Given the description of an element on the screen output the (x, y) to click on. 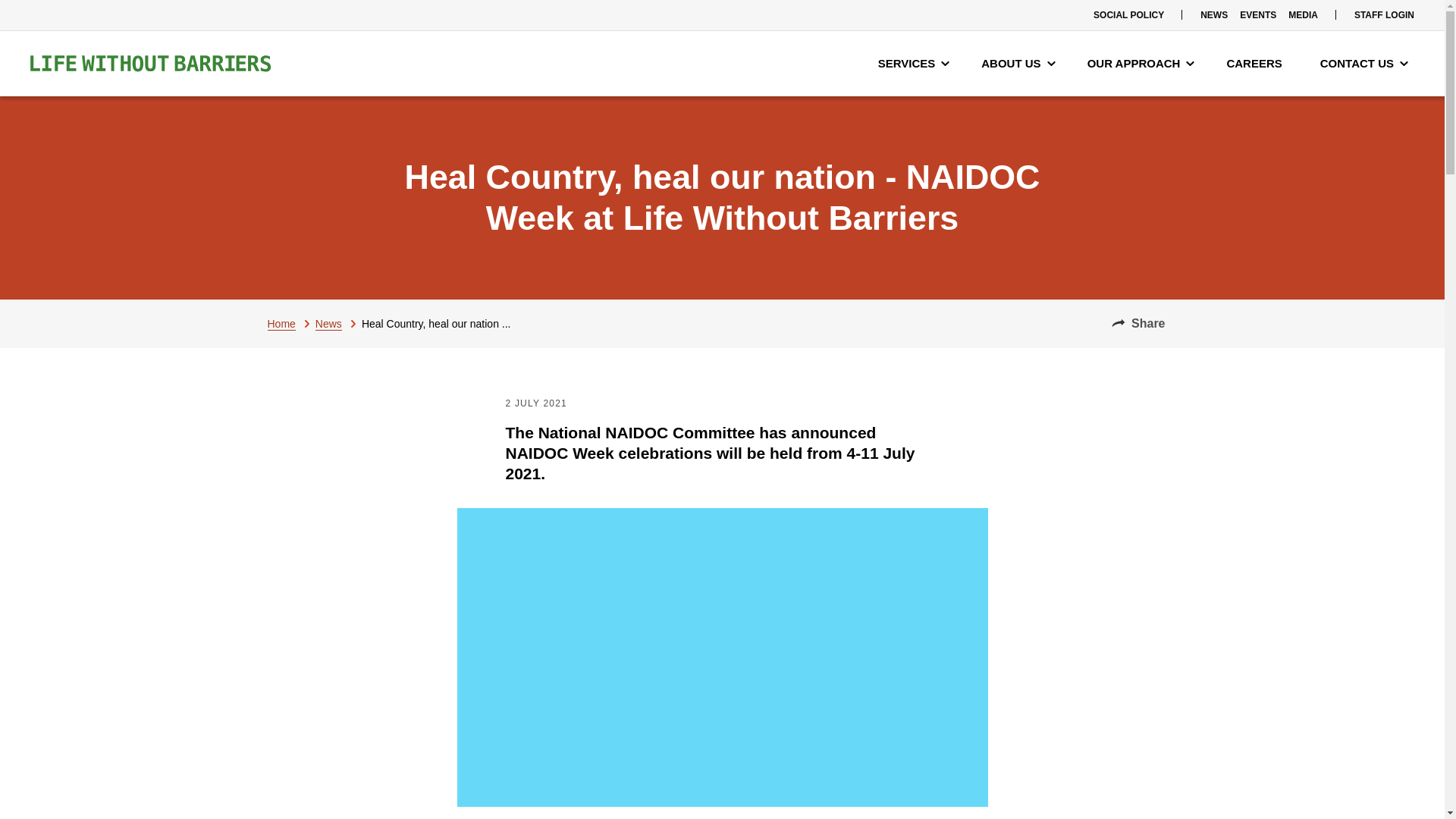
Services (914, 63)
News (338, 322)
STAFF LOGIN (1384, 15)
Return to news page (338, 322)
About us (1018, 63)
Careers (1257, 63)
Share (1137, 322)
Life Without Barriers (150, 63)
Home (290, 322)
Return navigation (290, 322)
